Given the description of an element on the screen output the (x, y) to click on. 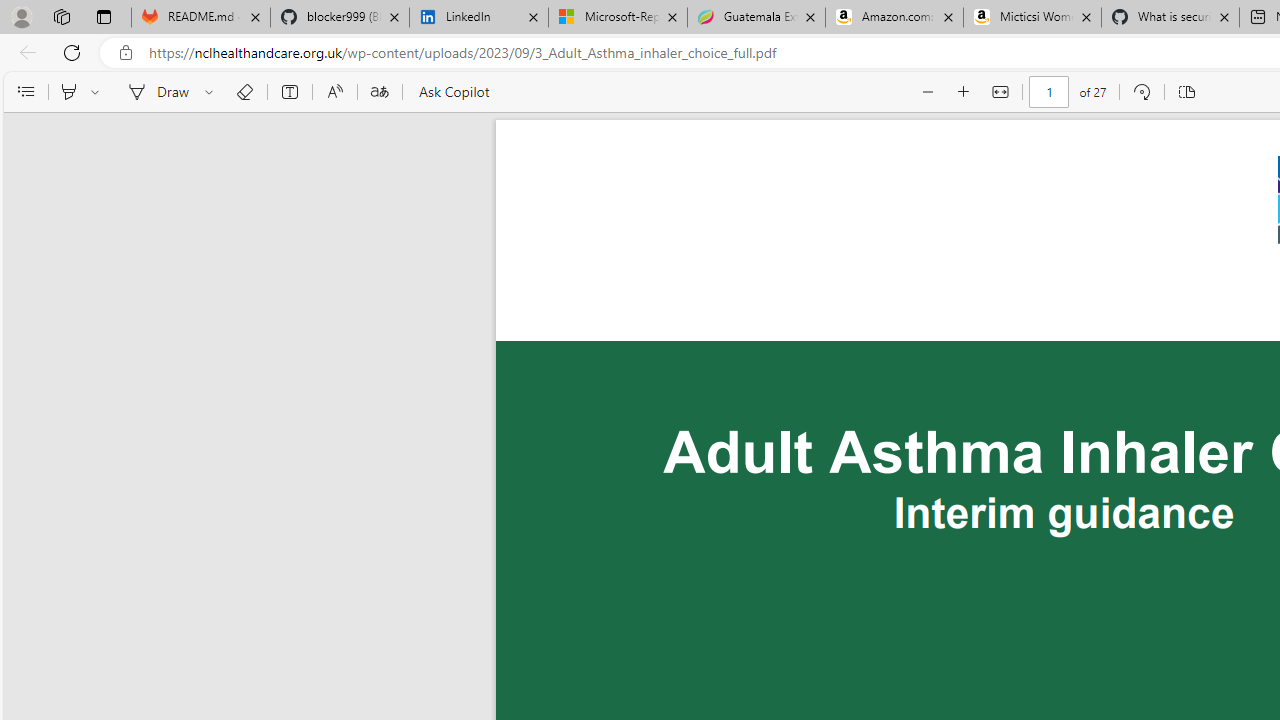
Contents (25, 92)
Fit to width (Ctrl+\) (999, 92)
Zoom in (Ctrl+Plus key) (964, 92)
Page view (1185, 92)
Select a highlight color (98, 92)
Add text (289, 92)
Rotate (Ctrl+]) (1140, 92)
Erase (244, 92)
